Given the description of an element on the screen output the (x, y) to click on. 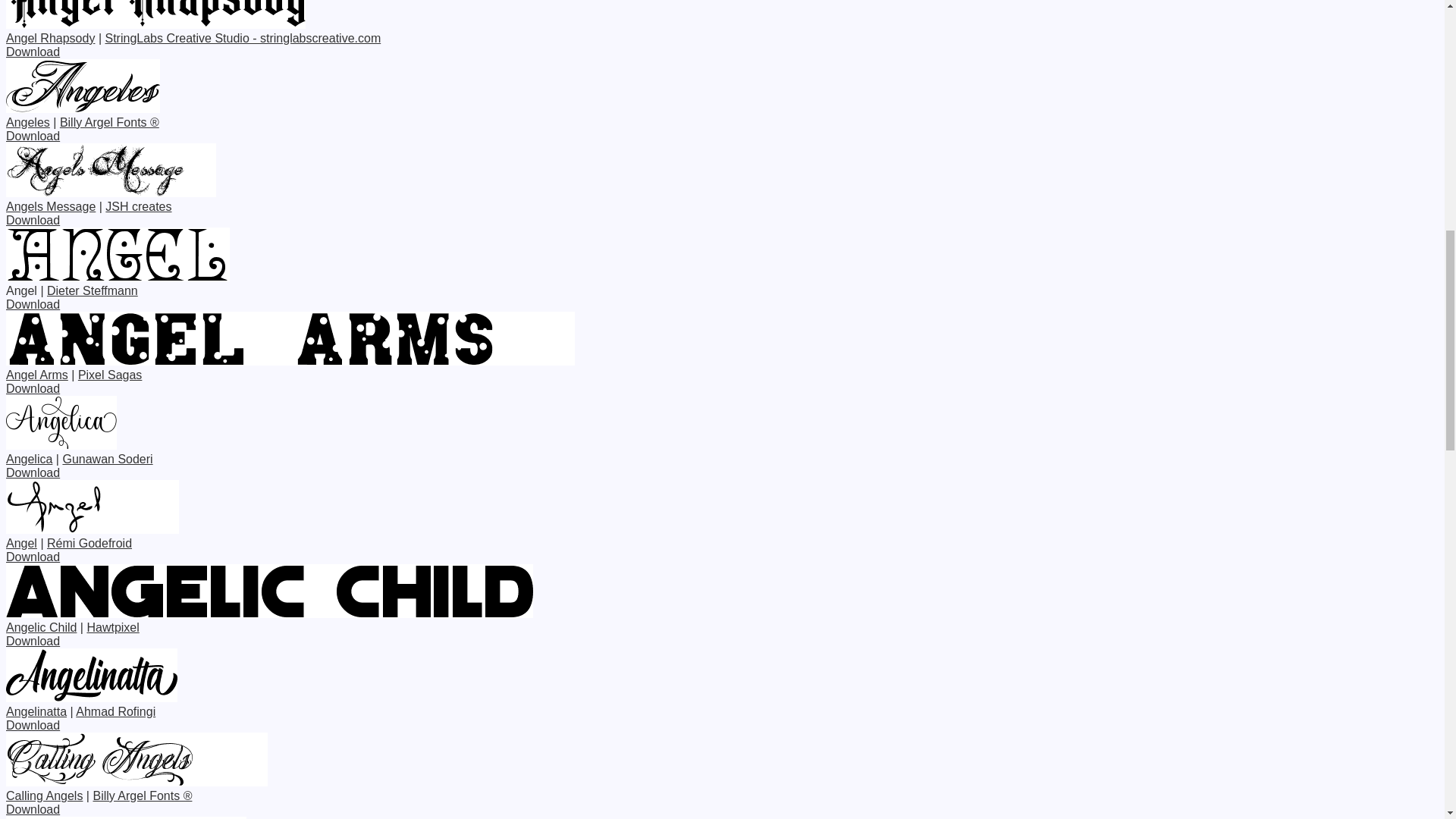
Angel Arms (36, 374)
Angel Rhapsody (49, 38)
Download (32, 51)
Pixel Sagas (110, 374)
Download (32, 556)
Download (32, 640)
Hawtpixel (111, 626)
Download (32, 388)
Angels Message (50, 205)
Download (32, 304)
Gunawan Soderi (107, 459)
Download (32, 135)
JSH creates (137, 205)
Dieter Steffmann (92, 290)
Angel (21, 543)
